Given the description of an element on the screen output the (x, y) to click on. 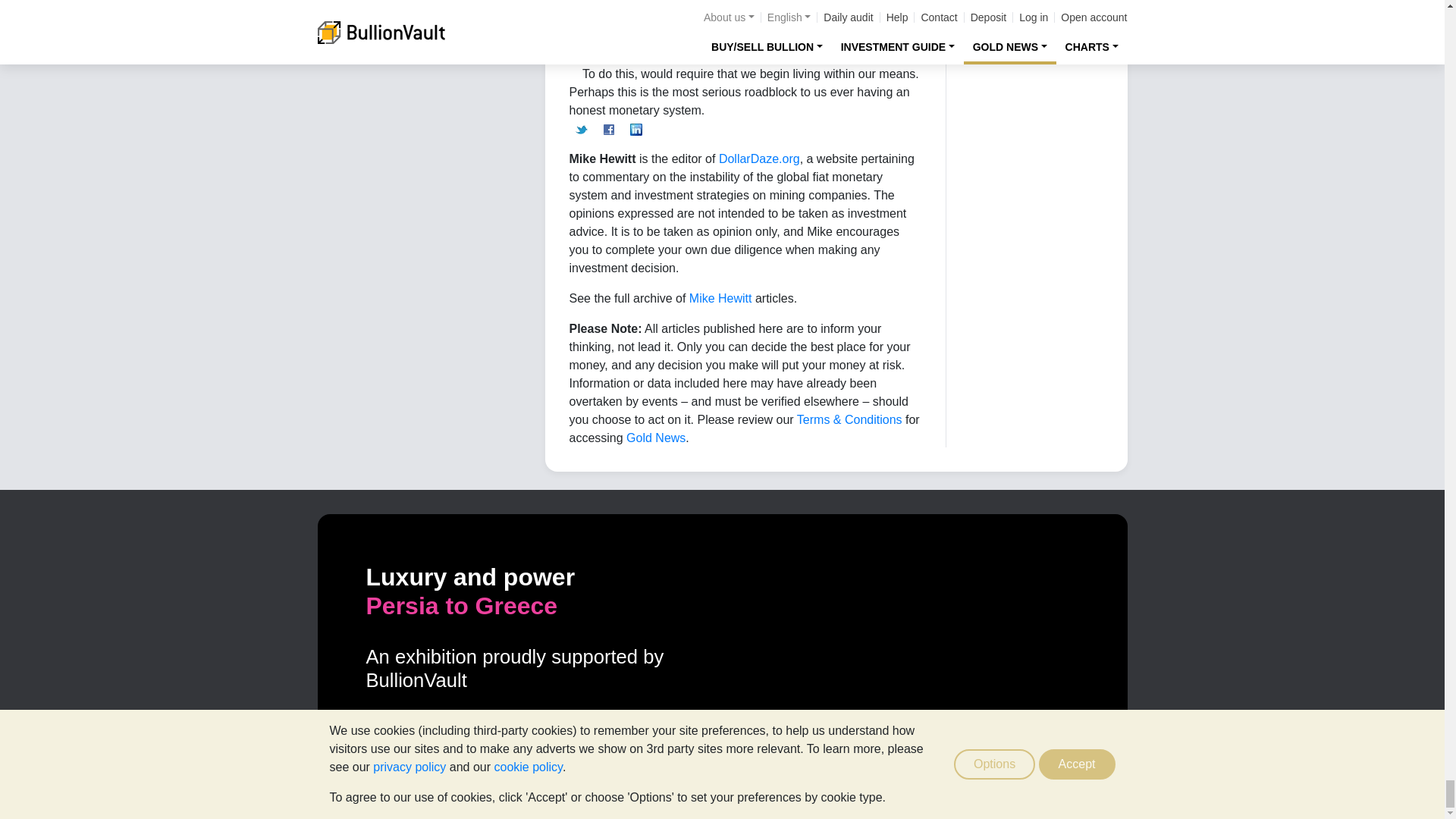
Publish this post to LinkedIn (636, 128)
Share on Facebook (608, 128)
Share this on Twitter (580, 128)
